Given the description of an element on the screen output the (x, y) to click on. 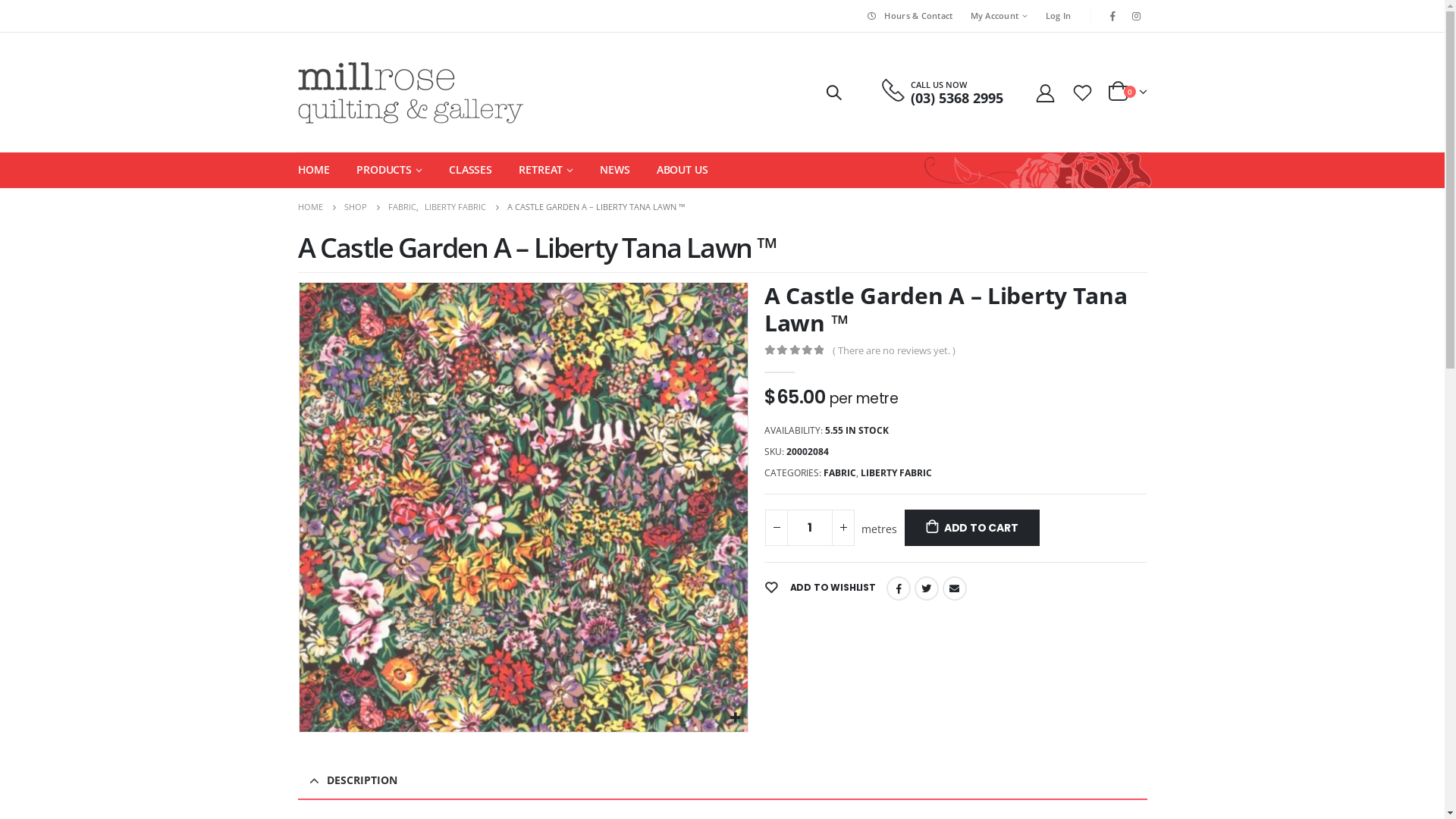
HOME Element type: text (309, 206)
NEWS Element type: text (614, 169)
ADD TO CART Element type: text (971, 527)
Facebook Element type: text (898, 588)
RETREAT Element type: text (545, 169)
My Account Element type: text (999, 15)
+ Element type: text (842, 527)
Email Element type: text (954, 588)
Wishlist Element type: hover (1082, 91)
LIBERTY FABRIC Element type: text (455, 206)
HOME Element type: text (313, 169)
My Account Element type: hover (1045, 91)
Qty Element type: hover (809, 527)
PRODUCTS Element type: text (389, 169)
FABRIC Element type: text (839, 473)
Facebook Element type: hover (1112, 15)
Twitter Element type: text (926, 588)
CLASSES Element type: text (470, 169)
ABOUT US Element type: text (682, 169)
Millrose Quilting & Gallery -  Element type: hover (409, 92)
20002084_1 Element type: hover (522, 506)
Instagram Element type: hover (1136, 15)
FABRIC Element type: text (402, 206)
LIBERTY FABRIC Element type: text (895, 473)
SHOP Element type: text (355, 206)
Hours & Contact Element type: text (908, 15)
ADD TO WISHLIST Element type: text (819, 588)
( There are no reviews yet. ) Element type: text (897, 350)
Log In Element type: text (1058, 15)
- Element type: text (776, 527)
